Given the description of an element on the screen output the (x, y) to click on. 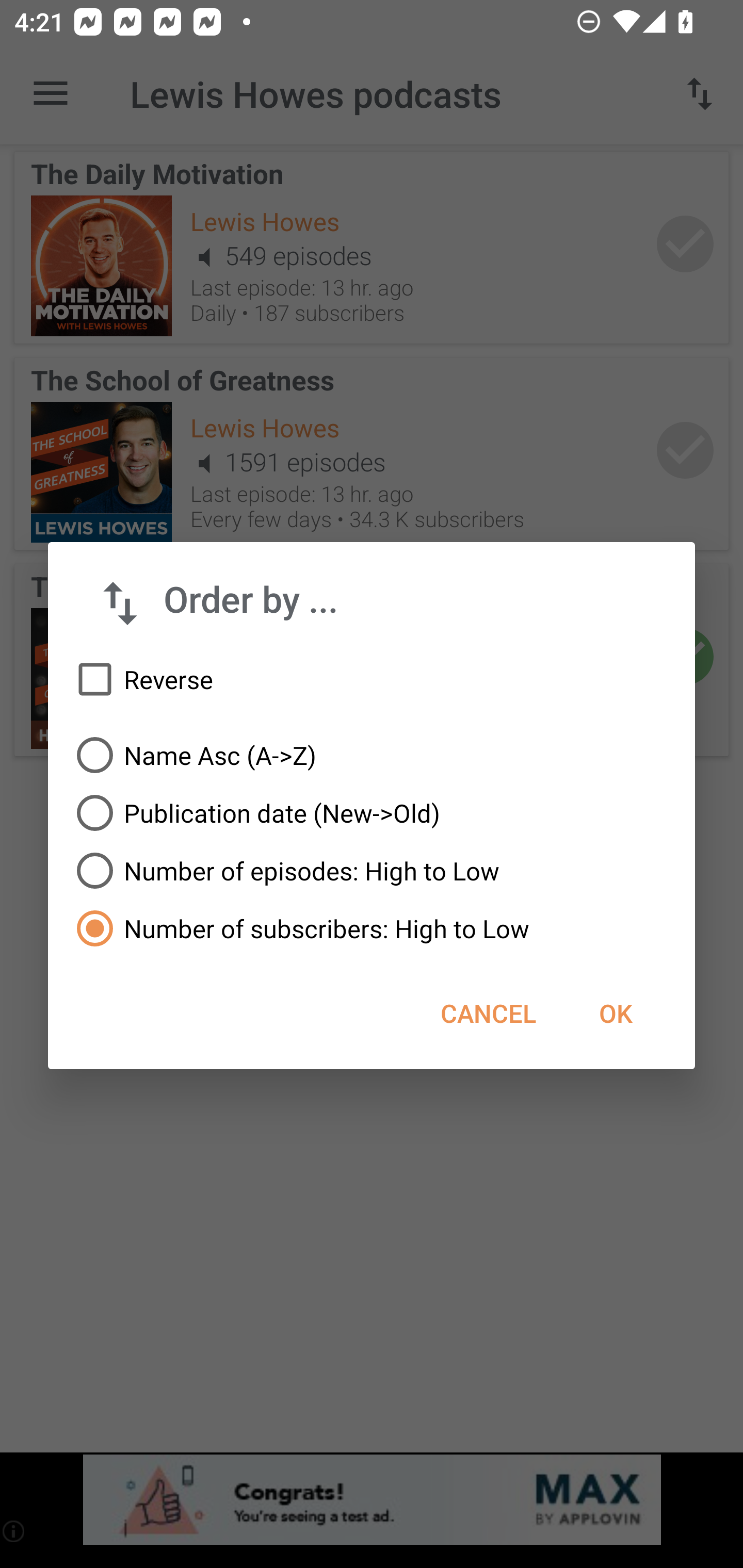
Reverse (371, 679)
Name Asc (A->Z) (371, 754)
Publication date (New->Old) (371, 813)
Number of episodes: High to Low (371, 871)
Number of subscribers: High to Low (371, 929)
CANCEL (488, 1012)
OK (615, 1012)
